Given the description of an element on the screen output the (x, y) to click on. 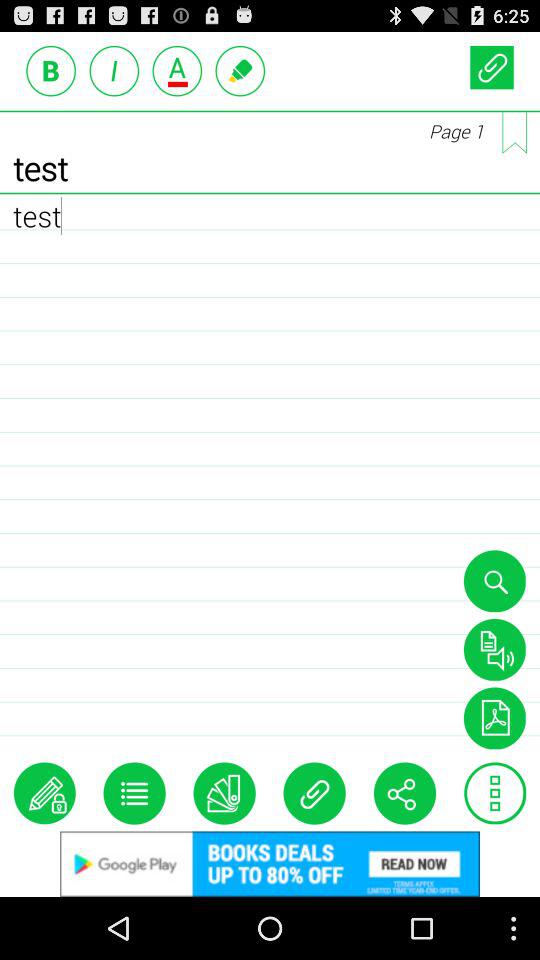
go to icon (495, 793)
